Given the description of an element on the screen output the (x, y) to click on. 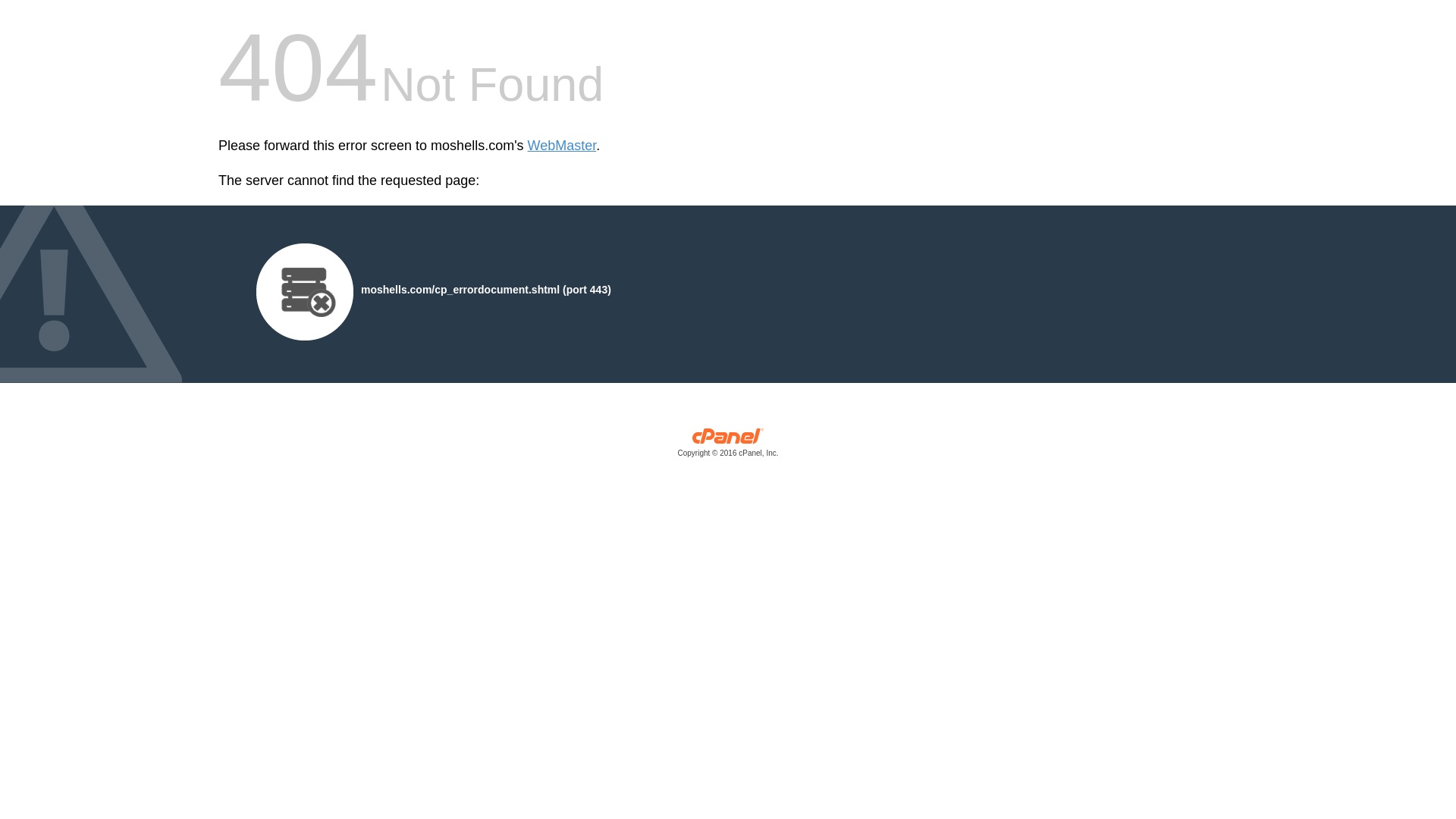
WebMaster (561, 145)
cPanel, Inc. (727, 446)
